Given the description of an element on the screen output the (x, y) to click on. 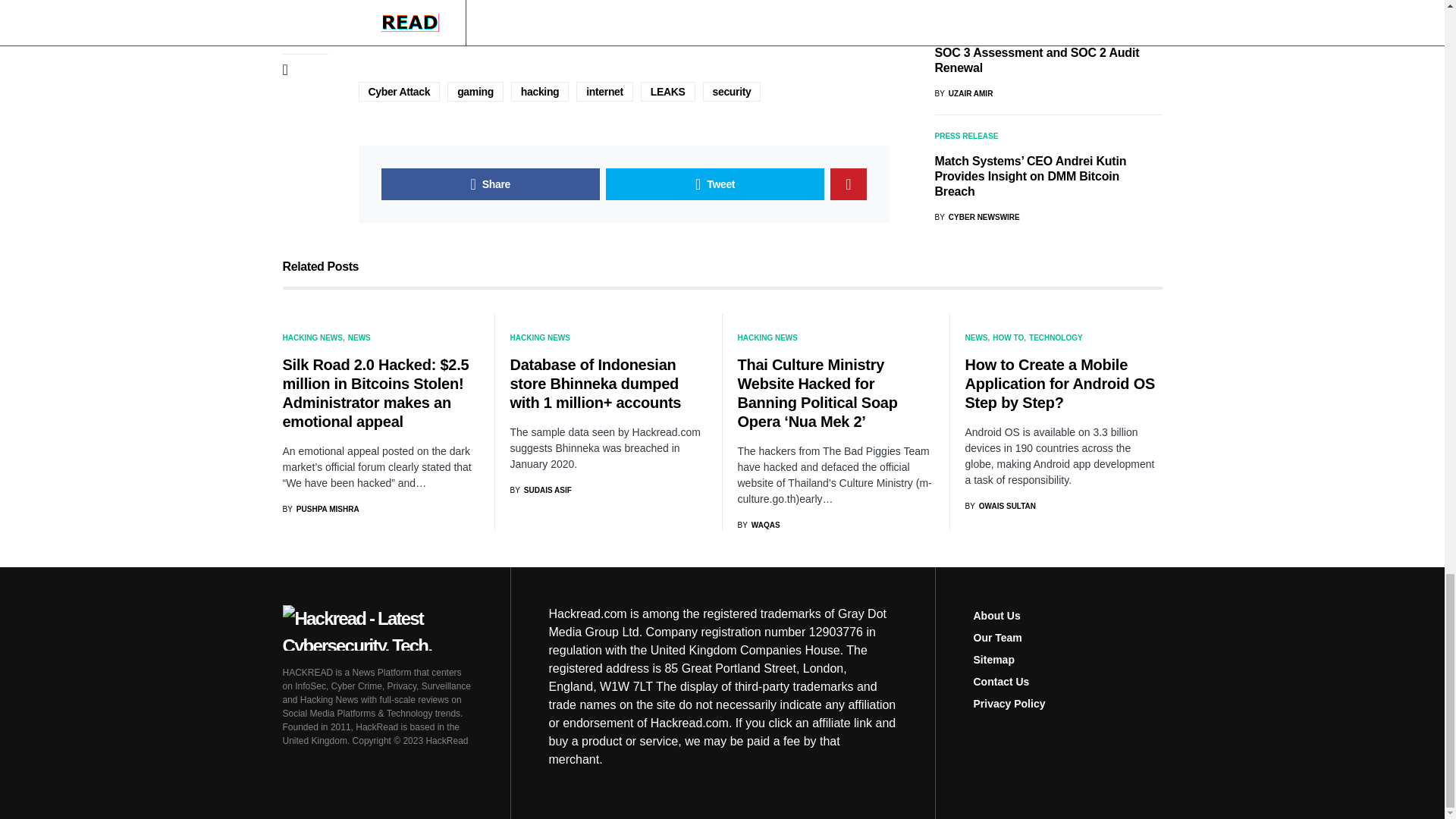
View all posts by Sudais Asif (539, 490)
View all posts by Pushpa Mishra (320, 509)
View all posts by Waqas (757, 524)
View all posts by Owais Sultan (999, 505)
